Given the description of an element on the screen output the (x, y) to click on. 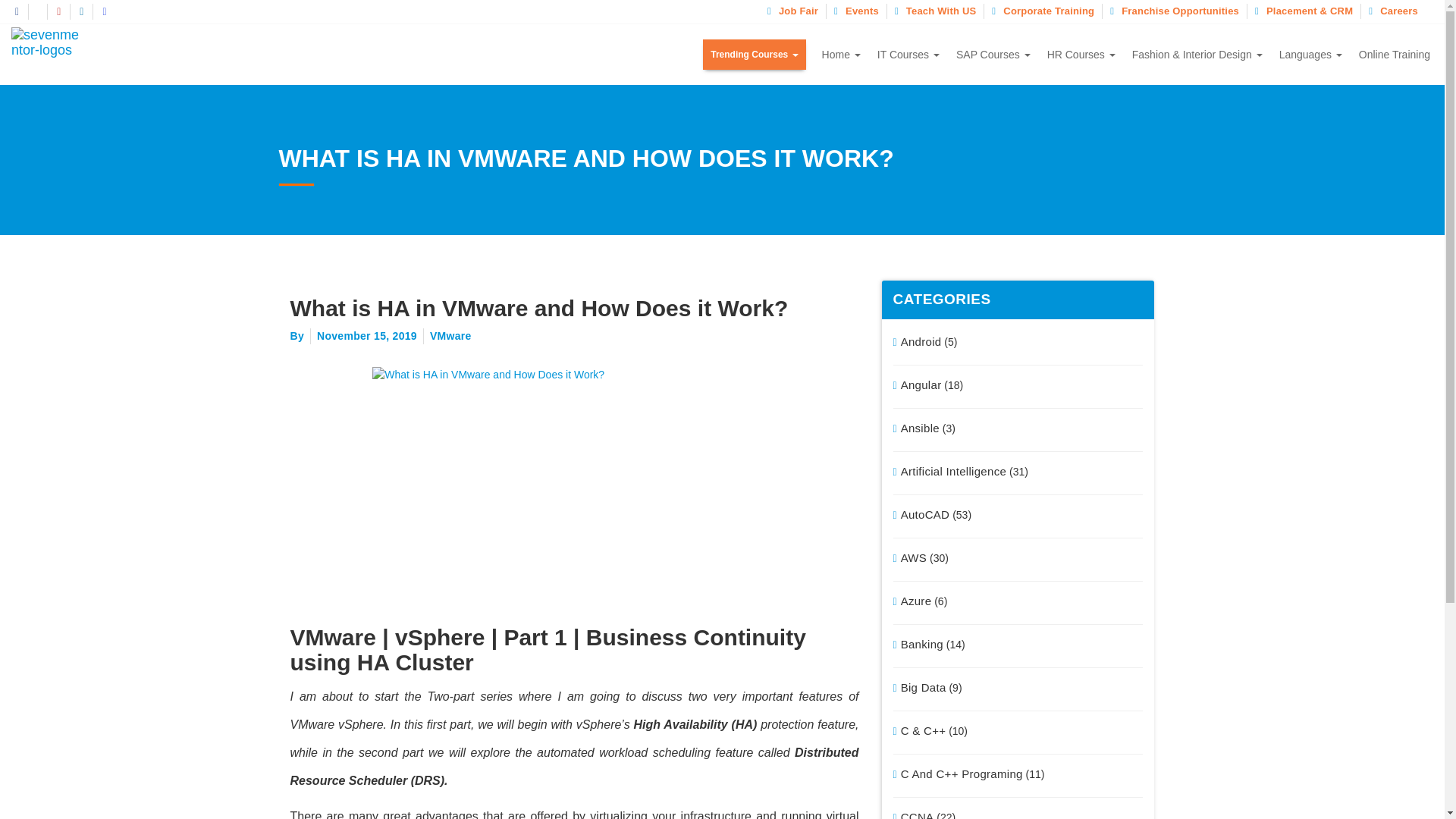
Trending Courses (754, 54)
